Given the description of an element on the screen output the (x, y) to click on. 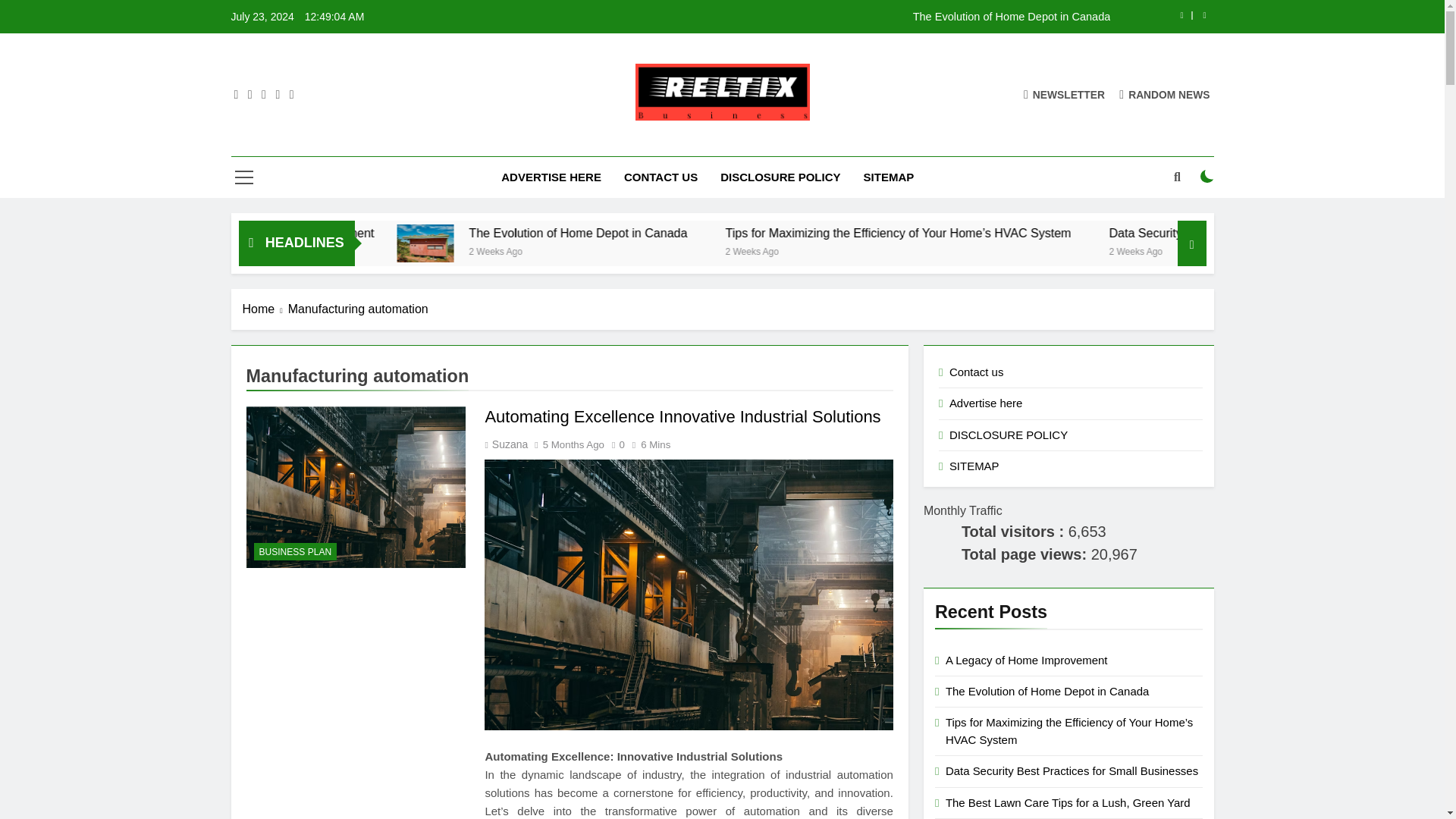
RANDOM NEWS (1164, 93)
ADVERTISE HERE (550, 177)
2 Weeks Ago (657, 250)
on (1206, 176)
2 Weeks Ago (396, 250)
The Evolution of Home Depot in Canada (705, 233)
2 Weeks Ago (909, 250)
The Evolution of Home Depot in Canada (817, 16)
A Legacy of Home Improvement (457, 233)
Reltix (523, 142)
CONTACT US (660, 177)
The Evolution of Home Depot in Canada (557, 243)
SITEMAP (888, 177)
The Evolution of Home Depot in Canada (817, 16)
NEWSLETTER (1064, 93)
